Given the description of an element on the screen output the (x, y) to click on. 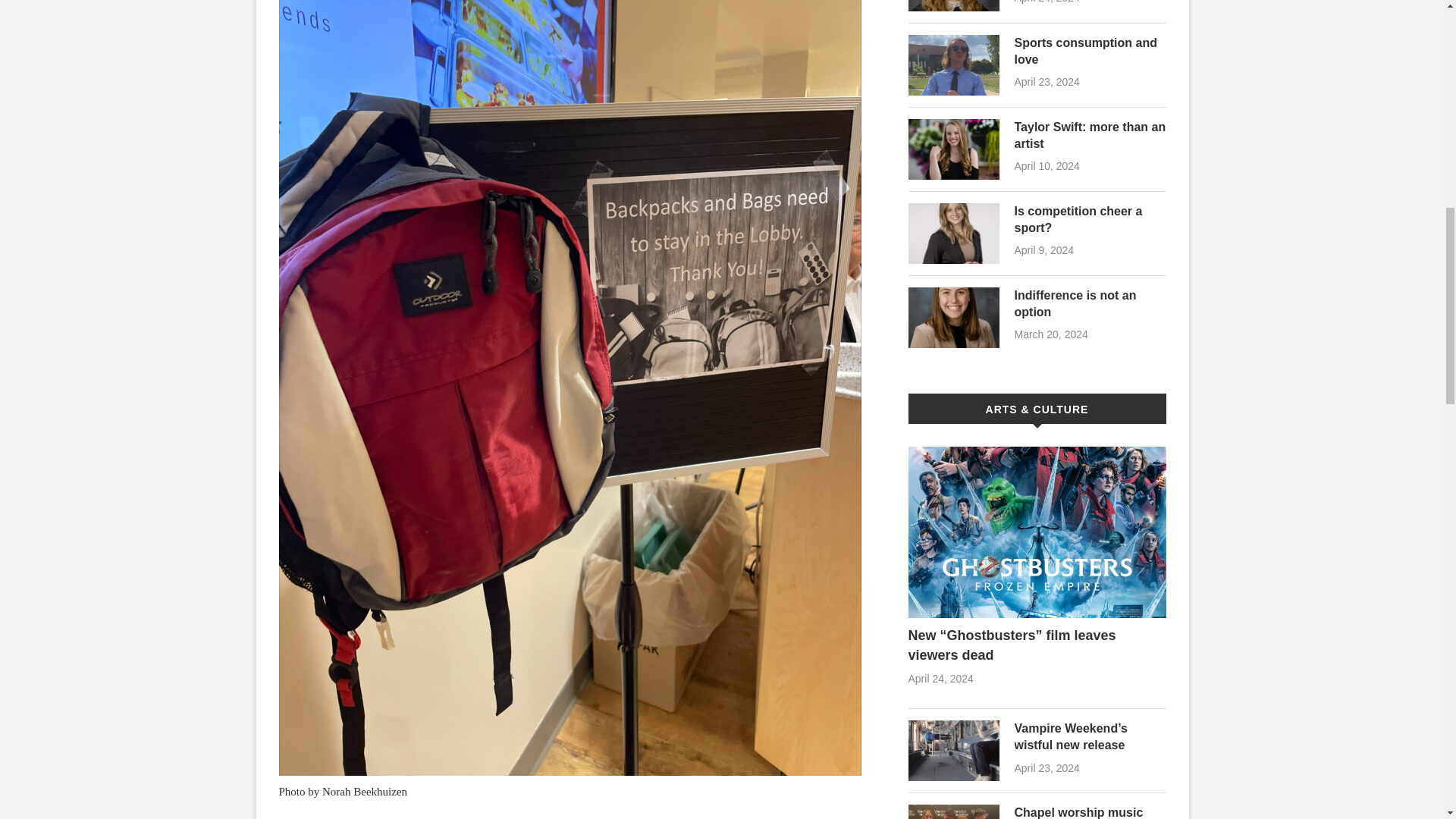
Taylor Swift: more than an artist (953, 148)
Is competition cheer a sport? (953, 233)
Sports consumption and love (1090, 51)
Is competition cheer a sport? (1090, 220)
Taylor Swift: more than an artist (1090, 135)
Indifference is not an option (953, 317)
Sports consumption and love (953, 65)
Christians have no enemies (953, 5)
